Given the description of an element on the screen output the (x, y) to click on. 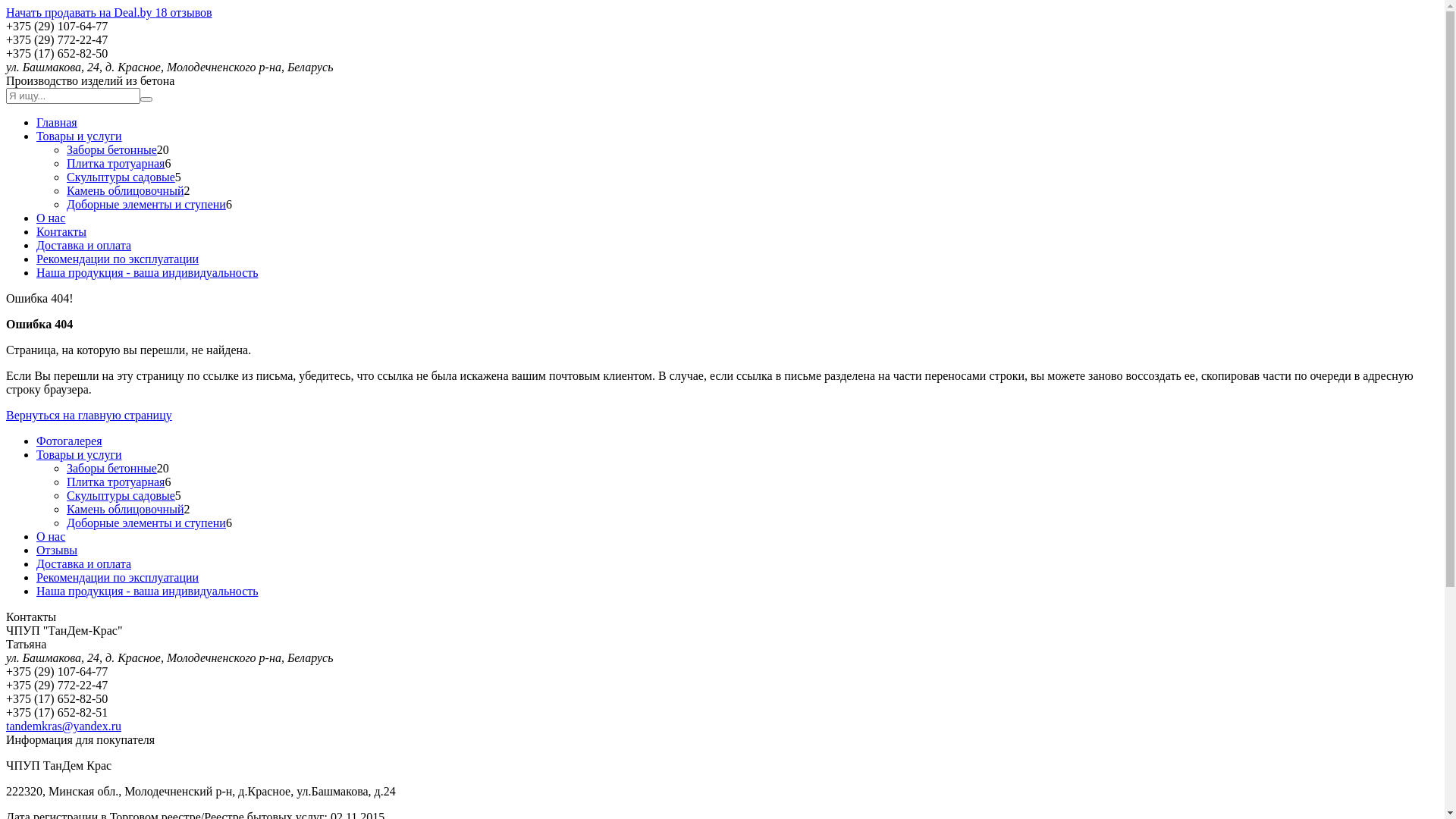
tandemkras@yandex.ru Element type: text (63, 725)
